Given the description of an element on the screen output the (x, y) to click on. 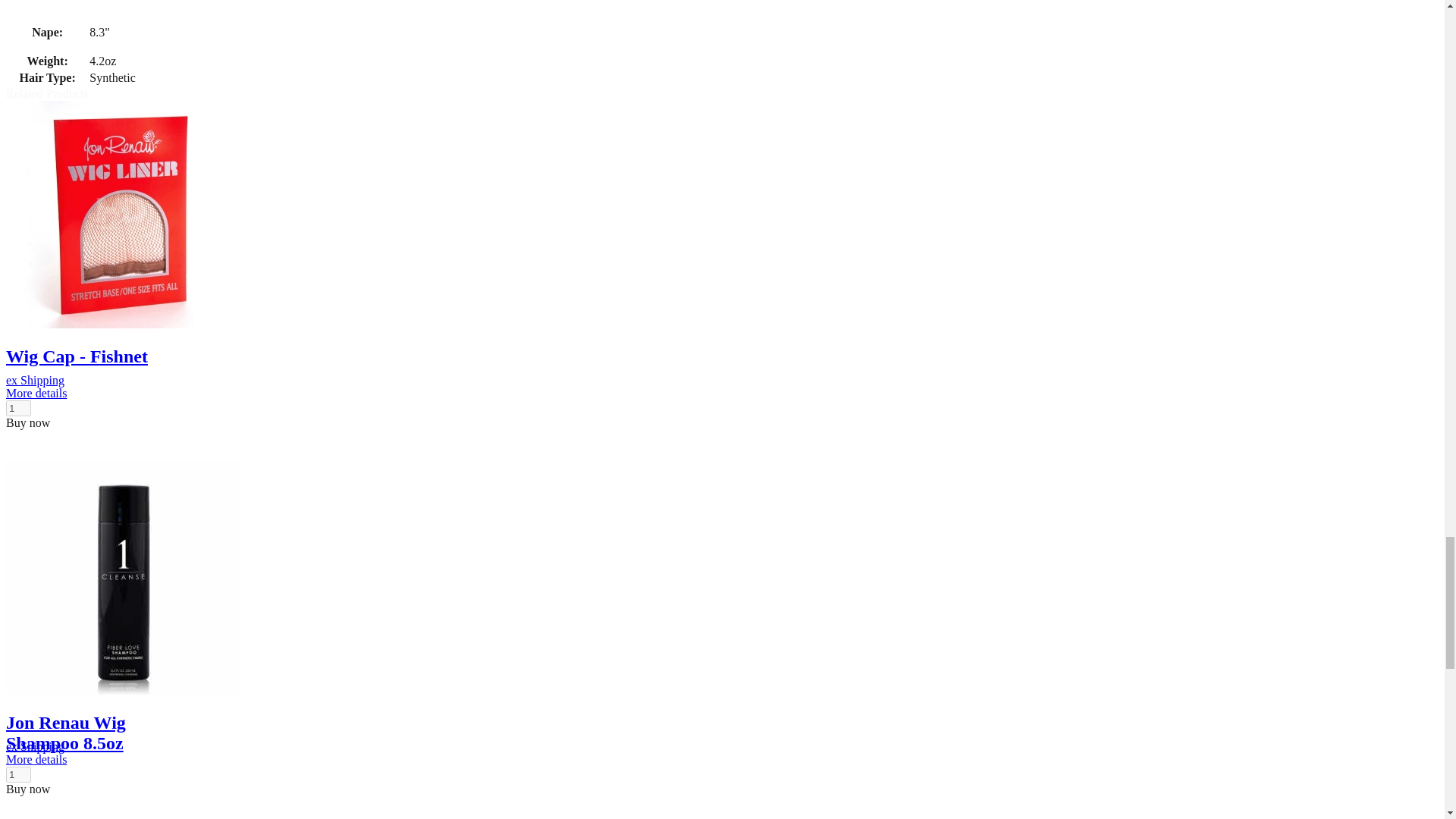
1 (17, 774)
1 (17, 408)
